Given the description of an element on the screen output the (x, y) to click on. 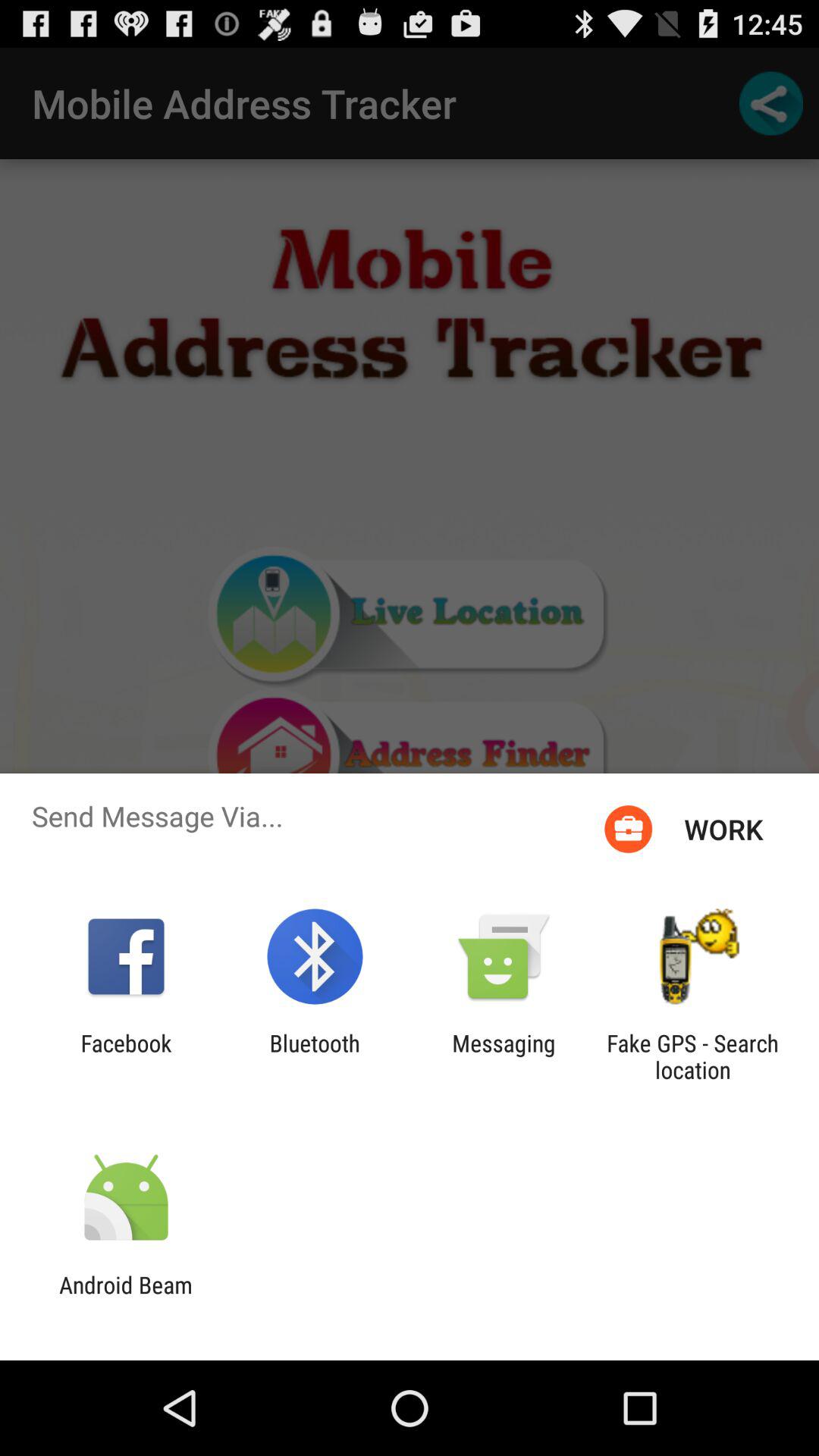
select the facebook item (125, 1056)
